Given the description of an element on the screen output the (x, y) to click on. 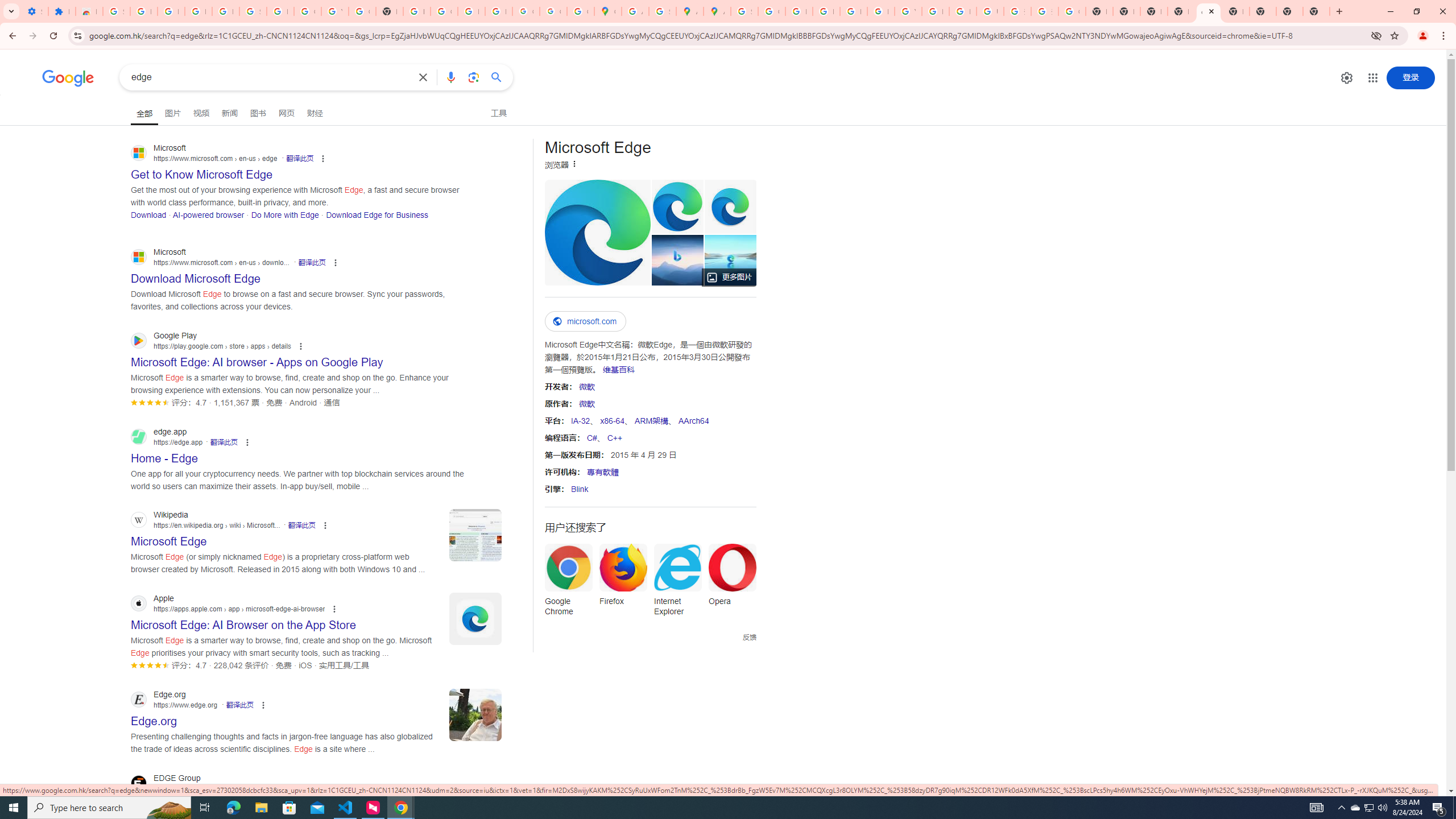
Firefox (623, 578)
Internet Explorer (677, 583)
Extensions (61, 11)
Reviews: Helix Fruit Jump Arcade Game (88, 11)
Sign in - Google Accounts (116, 11)
